Given the description of an element on the screen output the (x, y) to click on. 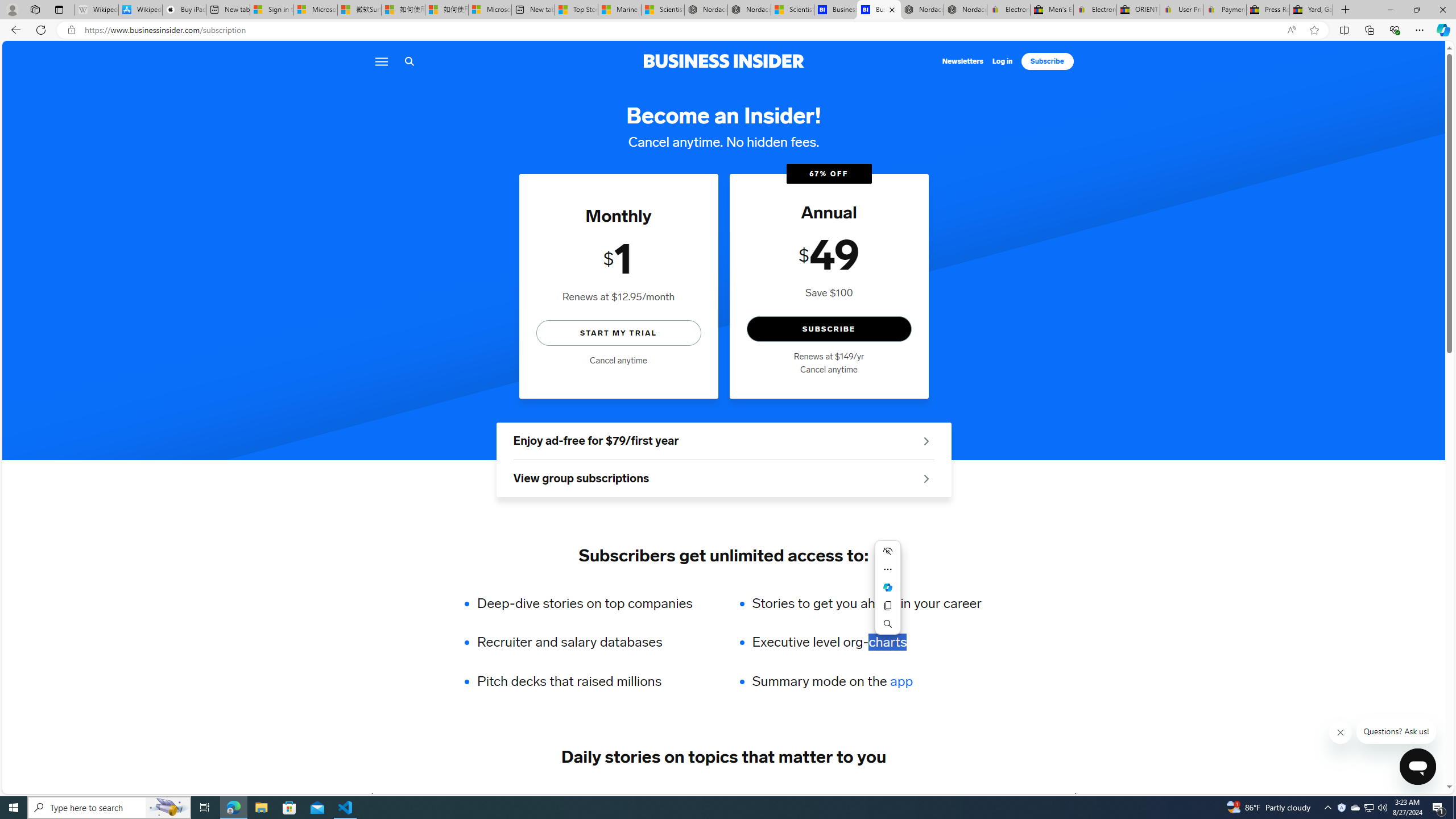
Stories to get you ahead in your career (866, 602)
Business Insider logo (723, 60)
Class: sc-1uf0igr-1 fjHZYk (1340, 732)
See group offers (925, 478)
START MY TRIAL (618, 332)
SUBSCRIBE (828, 329)
Class: sc-1k07fow-1 cbnSms (1417, 766)
